Given the description of an element on the screen output the (x, y) to click on. 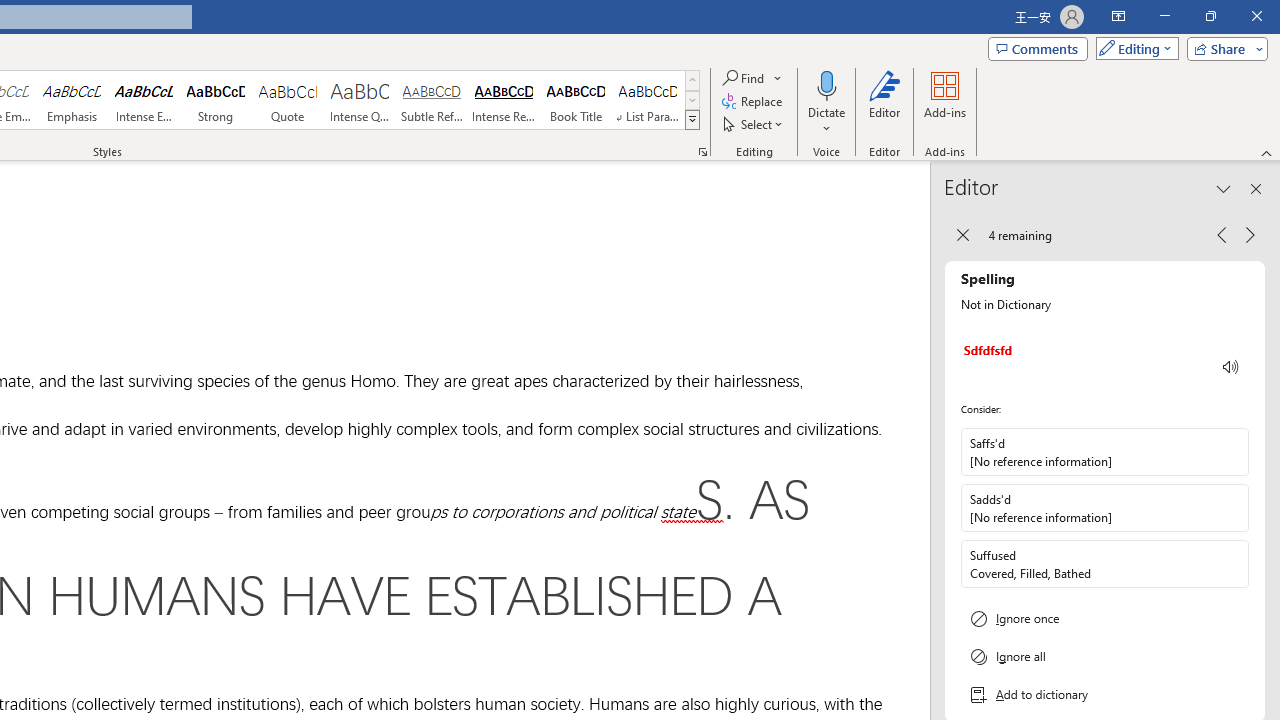
Task Pane Options (1224, 188)
Ribbon Display Options (1118, 16)
Intense Reference (504, 100)
Close pane (1256, 188)
